Given the description of an element on the screen output the (x, y) to click on. 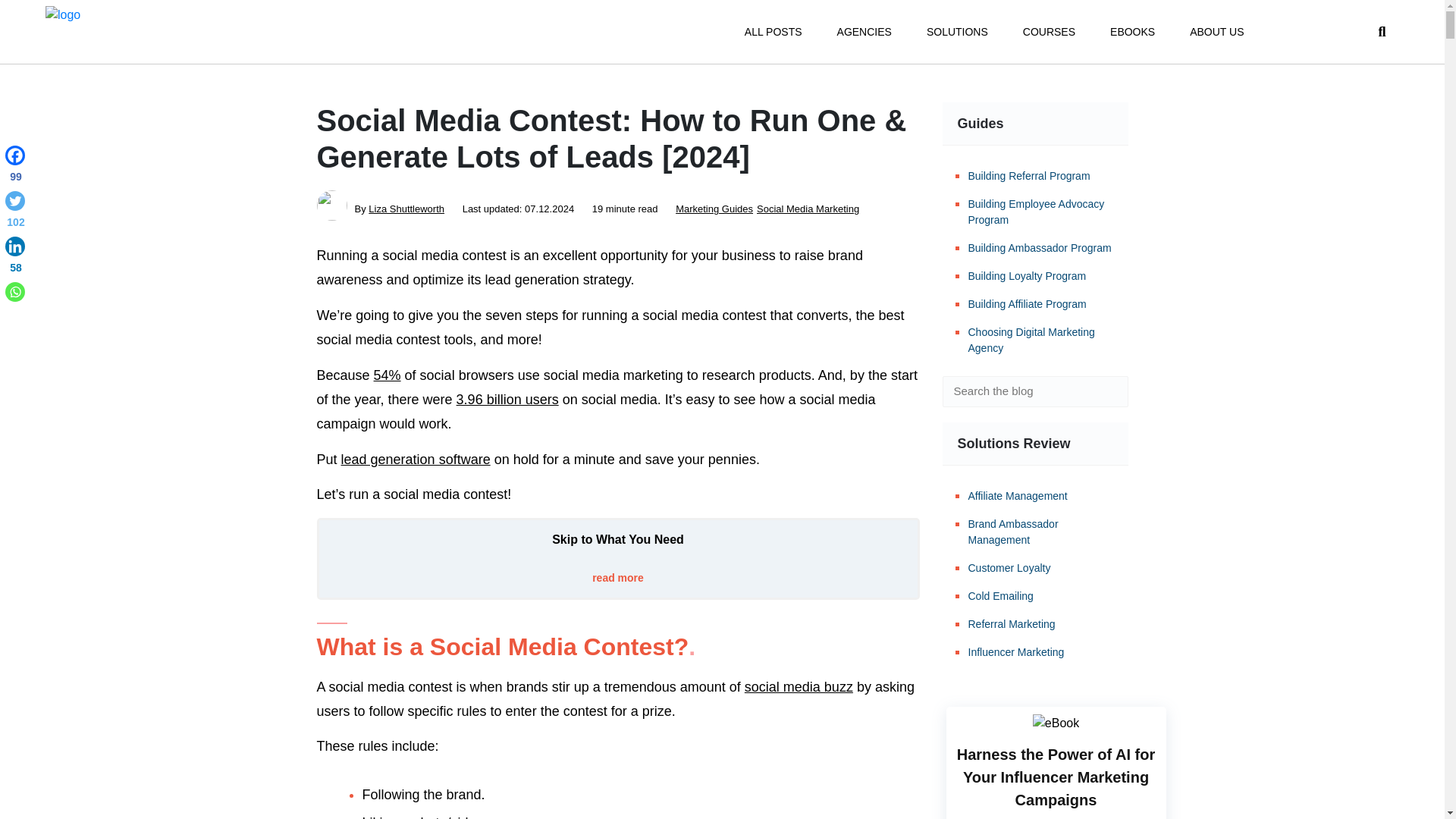
AGENCIES (864, 31)
Whatsapp (14, 291)
SOLUTIONS (957, 31)
Search (1105, 391)
ALL POSTS (772, 31)
Search (1105, 391)
Facebook (14, 166)
Twitter (14, 211)
Linkedin (14, 257)
